Given the description of an element on the screen output the (x, y) to click on. 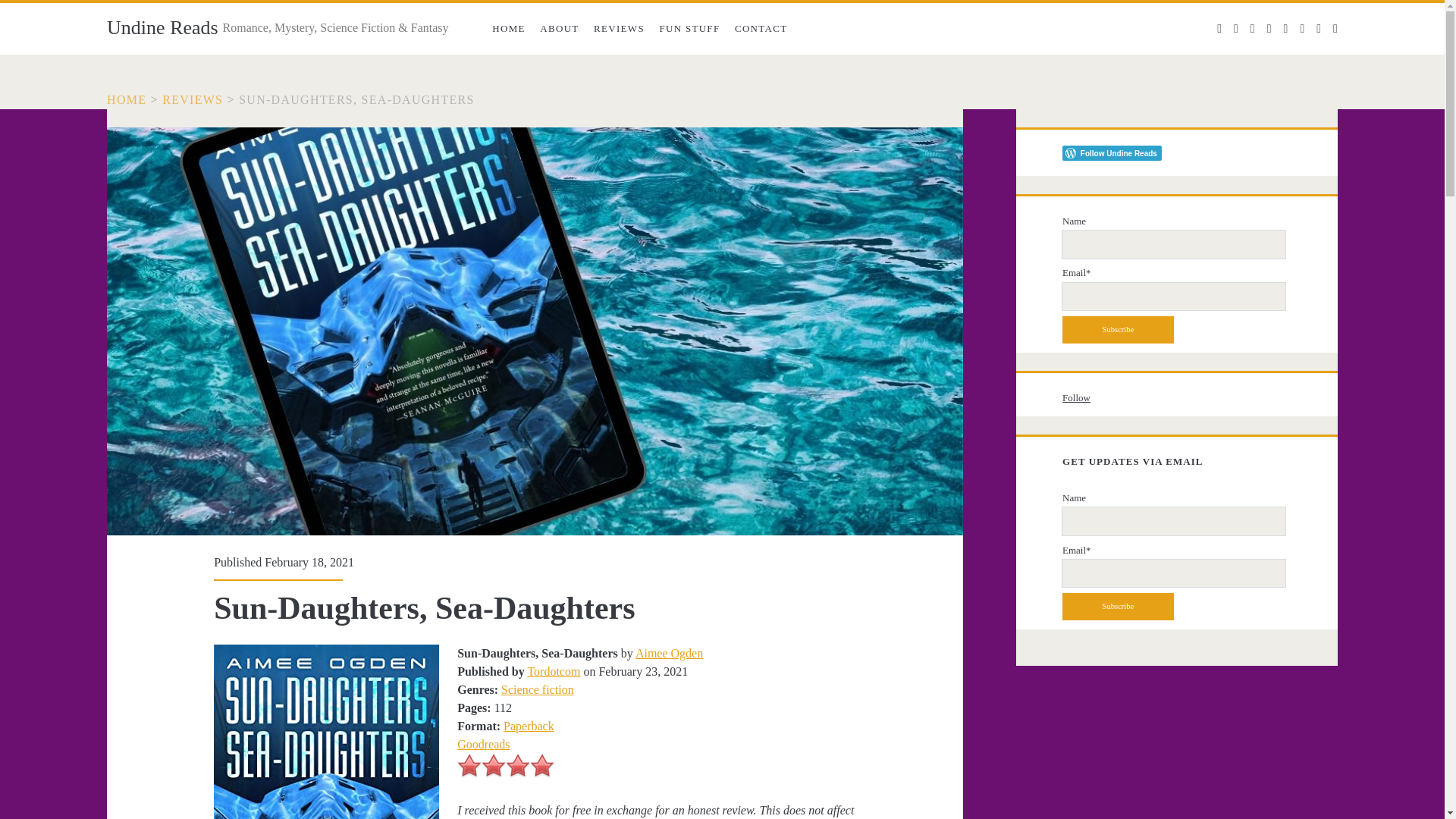
Paperback (528, 725)
instagram (1252, 28)
Aimee Ogden (668, 653)
goodreads (1318, 28)
Subscribe (1117, 329)
facebook (1236, 28)
linkedin (1268, 28)
email (1286, 28)
linkedin (1268, 28)
tumblr (1335, 28)
Subscribe (1117, 605)
REVIEWS (191, 99)
email (1286, 28)
Sun-Daughters, Sea-Daughters (356, 99)
HOME (126, 99)
